Given the description of an element on the screen output the (x, y) to click on. 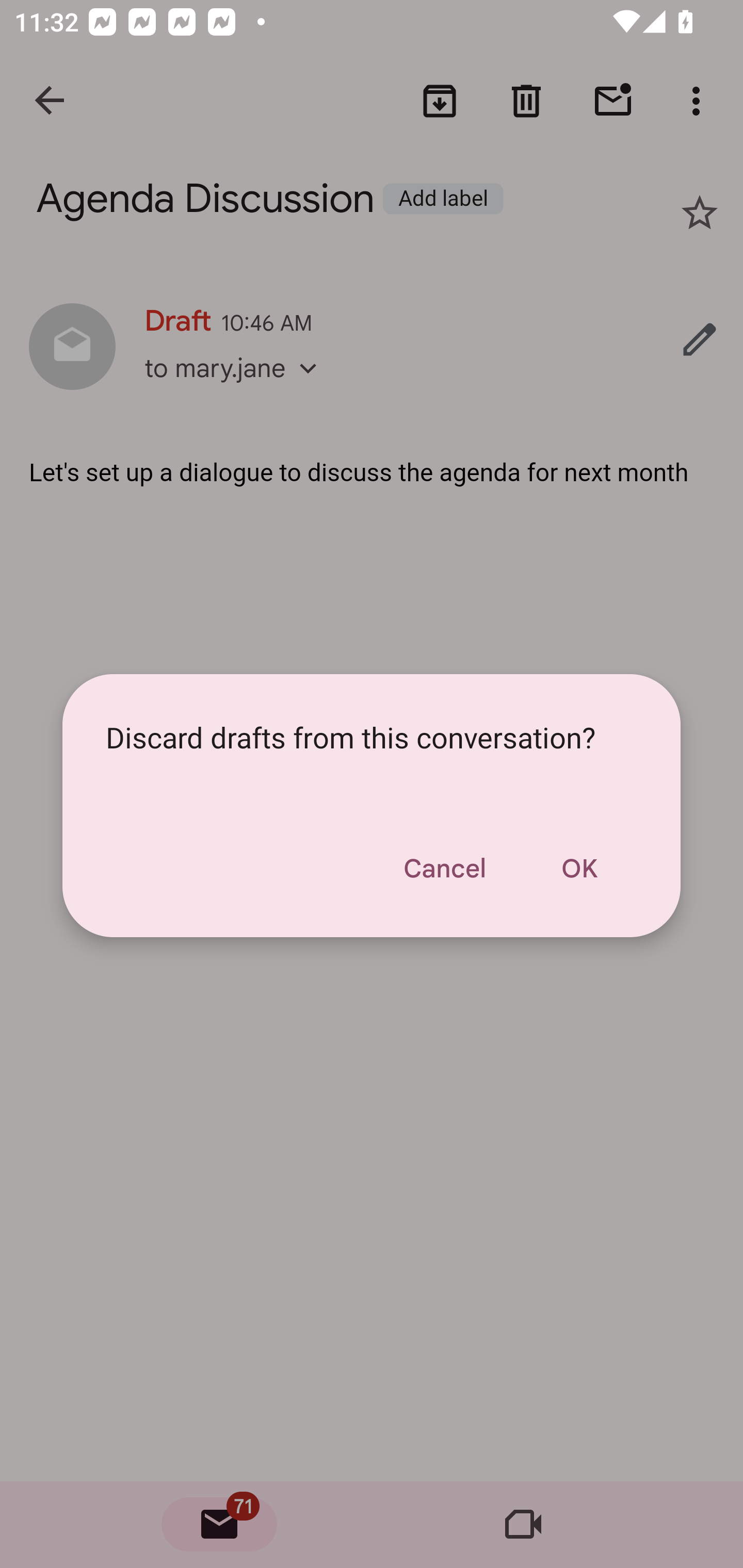
Cancel (444, 868)
OK (579, 868)
